Given the description of an element on the screen output the (x, y) to click on. 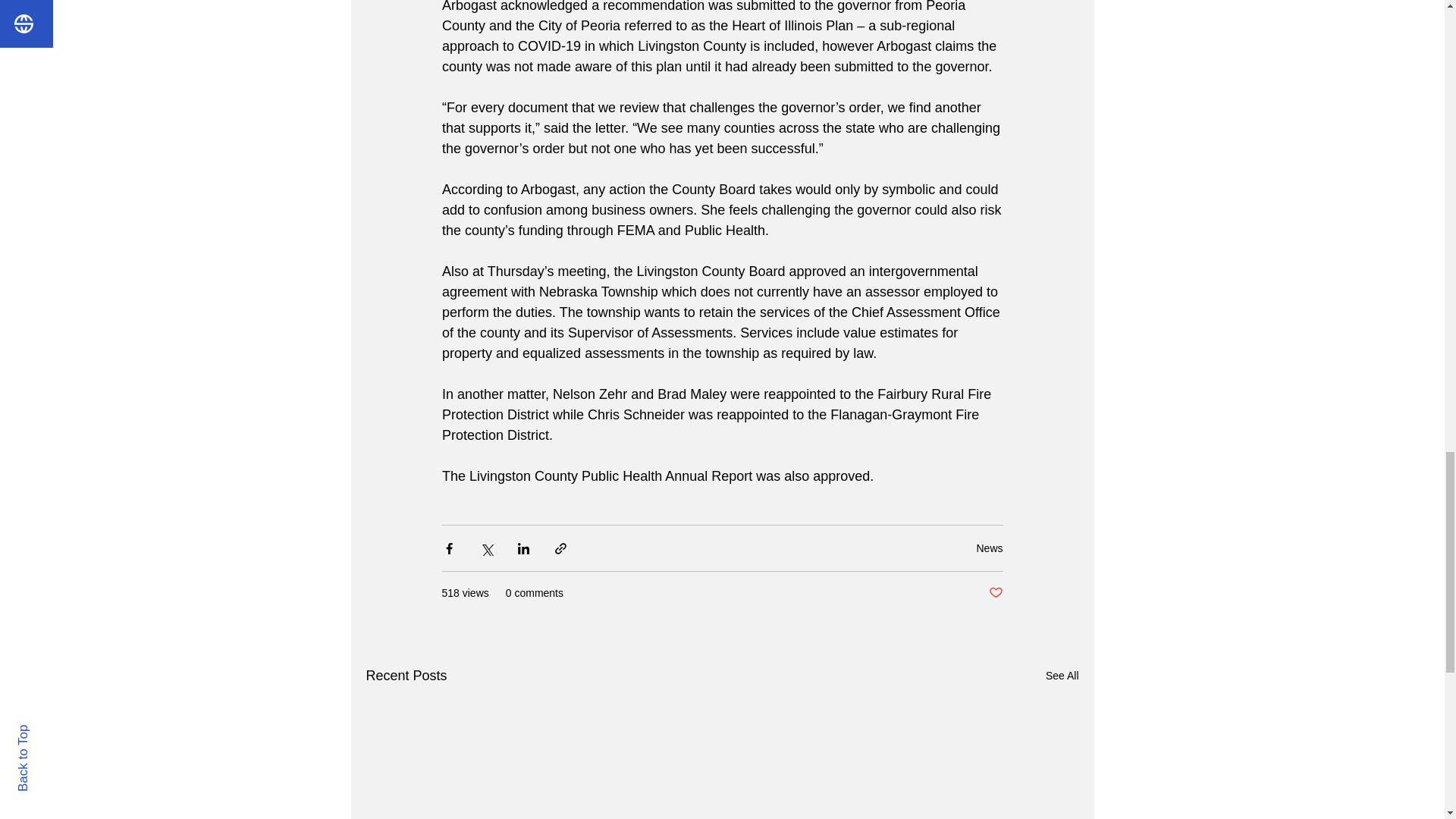
See All (1061, 676)
Post not marked as liked (995, 593)
News (989, 547)
